Given the description of an element on the screen output the (x, y) to click on. 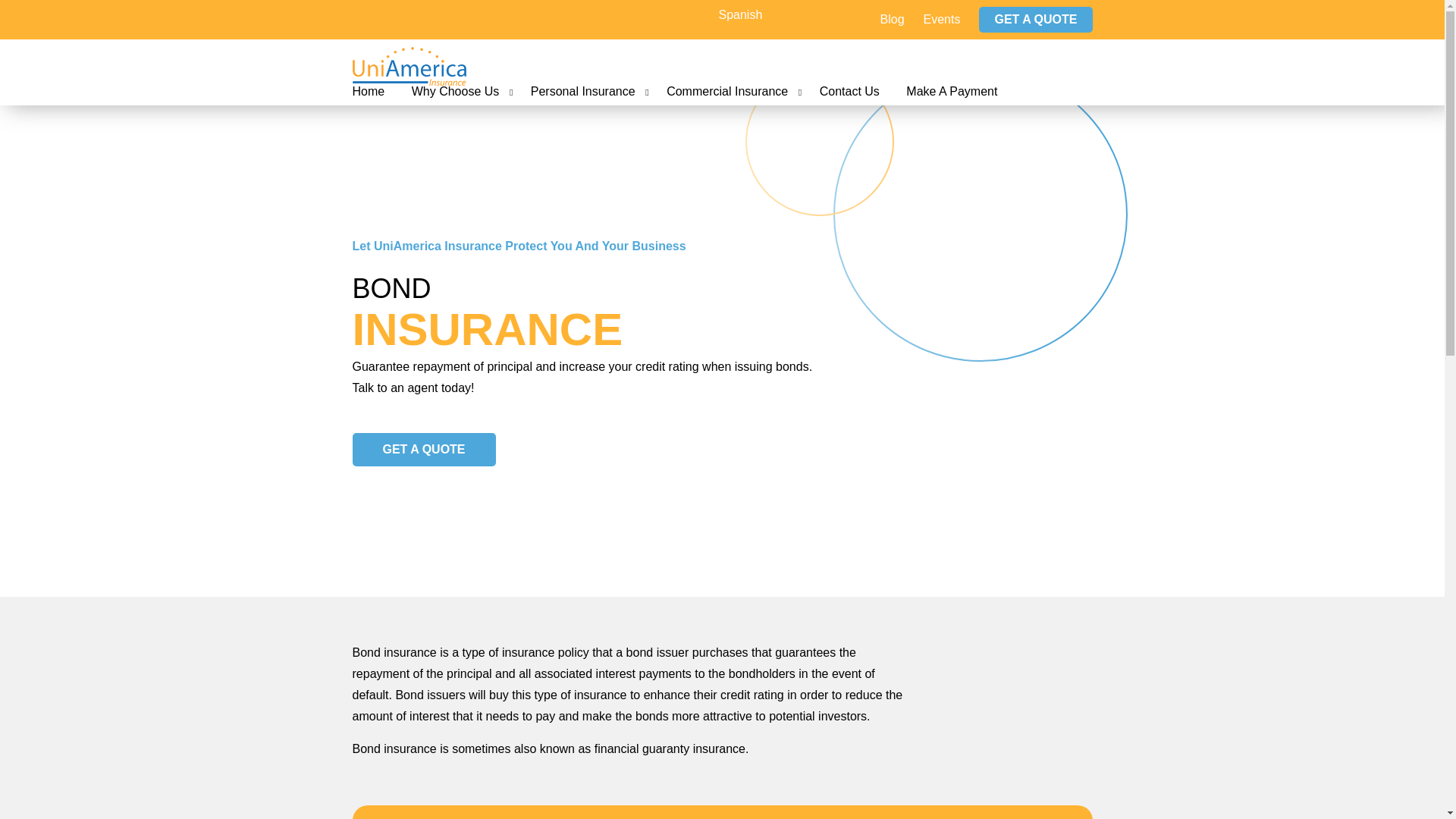
Home (368, 91)
Make A Payment (951, 91)
Home (368, 91)
Spanish (740, 15)
Why Choose Us (455, 91)
GET A QUOTE (1035, 19)
GET A QUOTE (423, 449)
Personal Insurance (582, 91)
Contact Us (849, 91)
Commercial Insurance (726, 91)
Why Choose Us (455, 91)
Spanish (740, 15)
Events (941, 19)
Personal Insurance (582, 91)
Blog (891, 19)
